Given the description of an element on the screen output the (x, y) to click on. 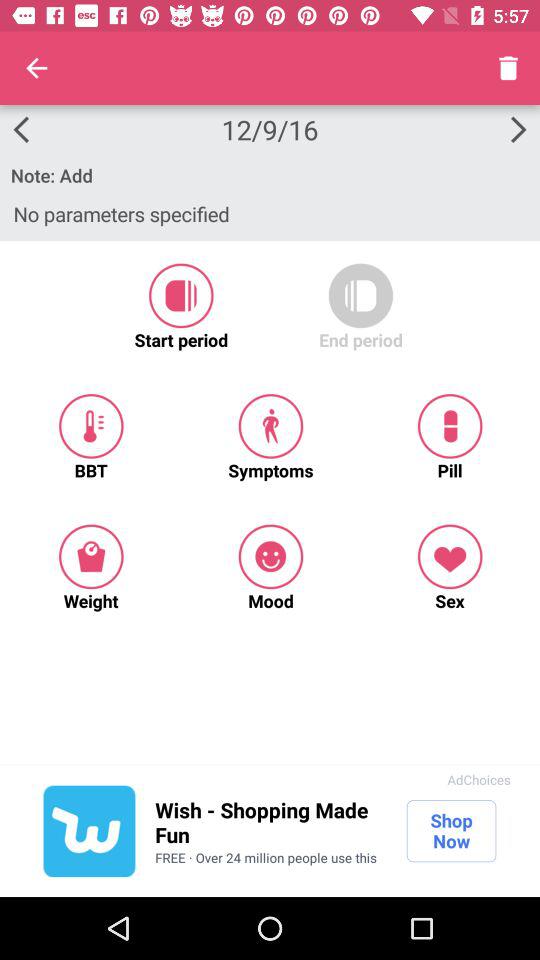
select the icon above the free over 24 (270, 821)
